Given the description of an element on the screen output the (x, y) to click on. 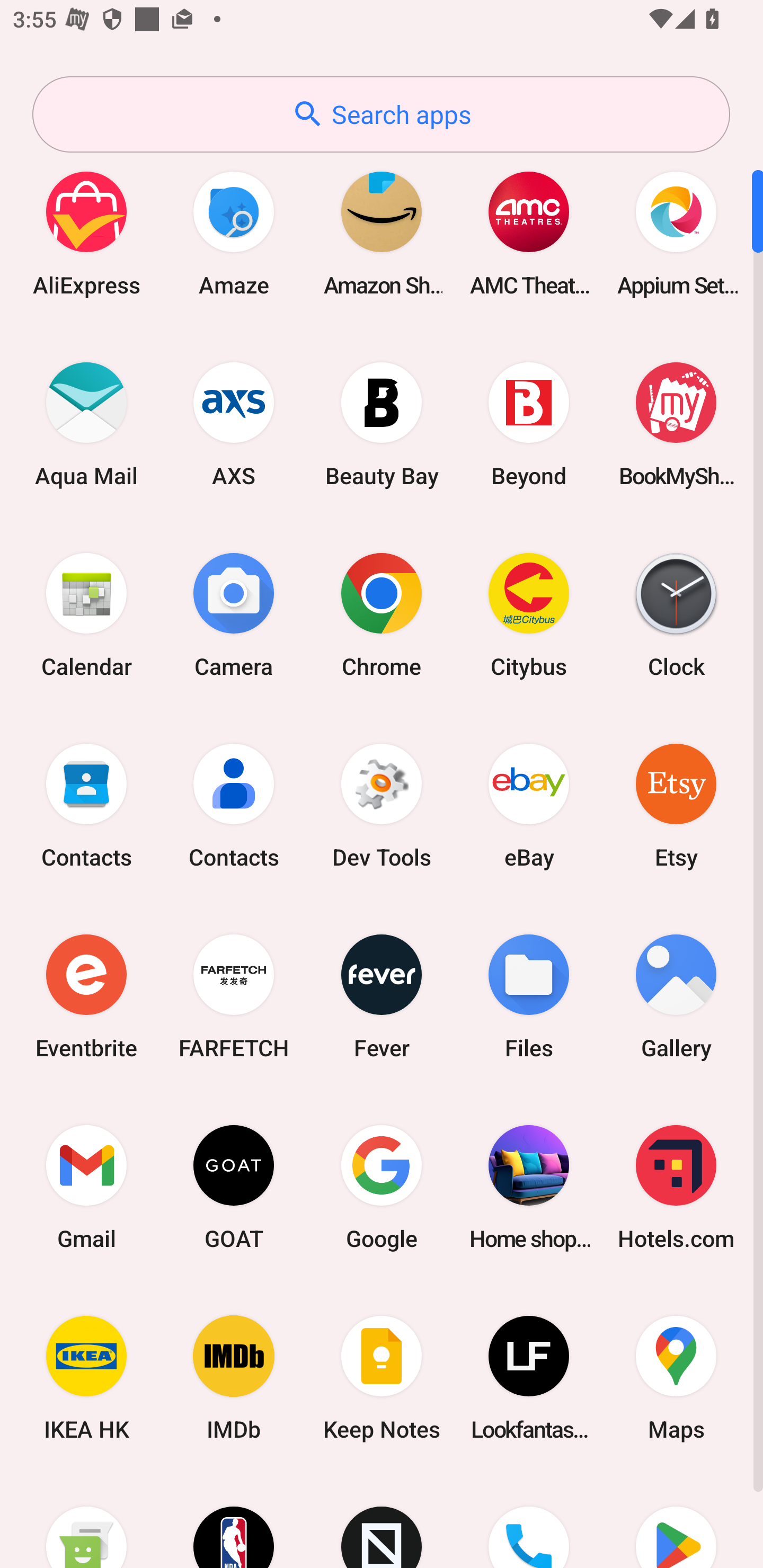
  Search apps (381, 114)
AliExpress (86, 233)
Amaze (233, 233)
Amazon Shopping (381, 233)
AMC Theatres (528, 233)
Appium Settings (676, 233)
Aqua Mail (86, 424)
AXS (233, 424)
Beauty Bay (381, 424)
Beyond (528, 424)
BookMyShow (676, 424)
Calendar (86, 614)
Camera (233, 614)
Chrome (381, 614)
Citybus (528, 614)
Clock (676, 614)
Contacts (86, 805)
Contacts (233, 805)
Dev Tools (381, 805)
eBay (528, 805)
Etsy (676, 805)
Eventbrite (86, 996)
FARFETCH (233, 996)
Fever (381, 996)
Files (528, 996)
Gallery (676, 996)
Gmail (86, 1186)
GOAT (233, 1186)
Google (381, 1186)
Home shopping (528, 1186)
Hotels.com (676, 1186)
IKEA HK (86, 1377)
IMDb (233, 1377)
Keep Notes (381, 1377)
Lookfantastic (528, 1377)
Maps (676, 1377)
